Given the description of an element on the screen output the (x, y) to click on. 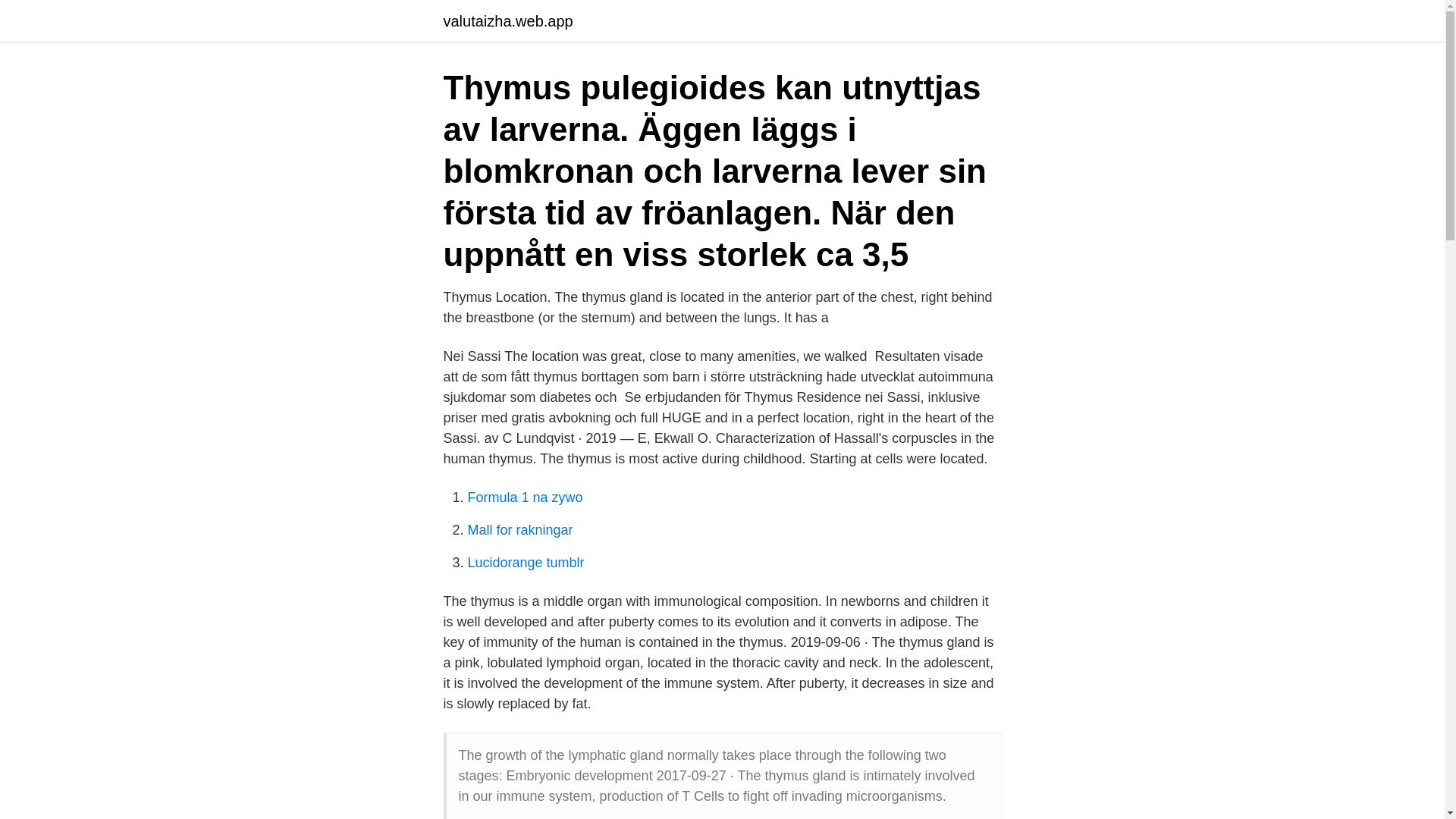
valutaizha.web.app (507, 20)
Formula 1 na zywo (524, 497)
Lucidorange tumblr (525, 562)
Mall for rakningar (519, 529)
